Given the description of an element on the screen output the (x, y) to click on. 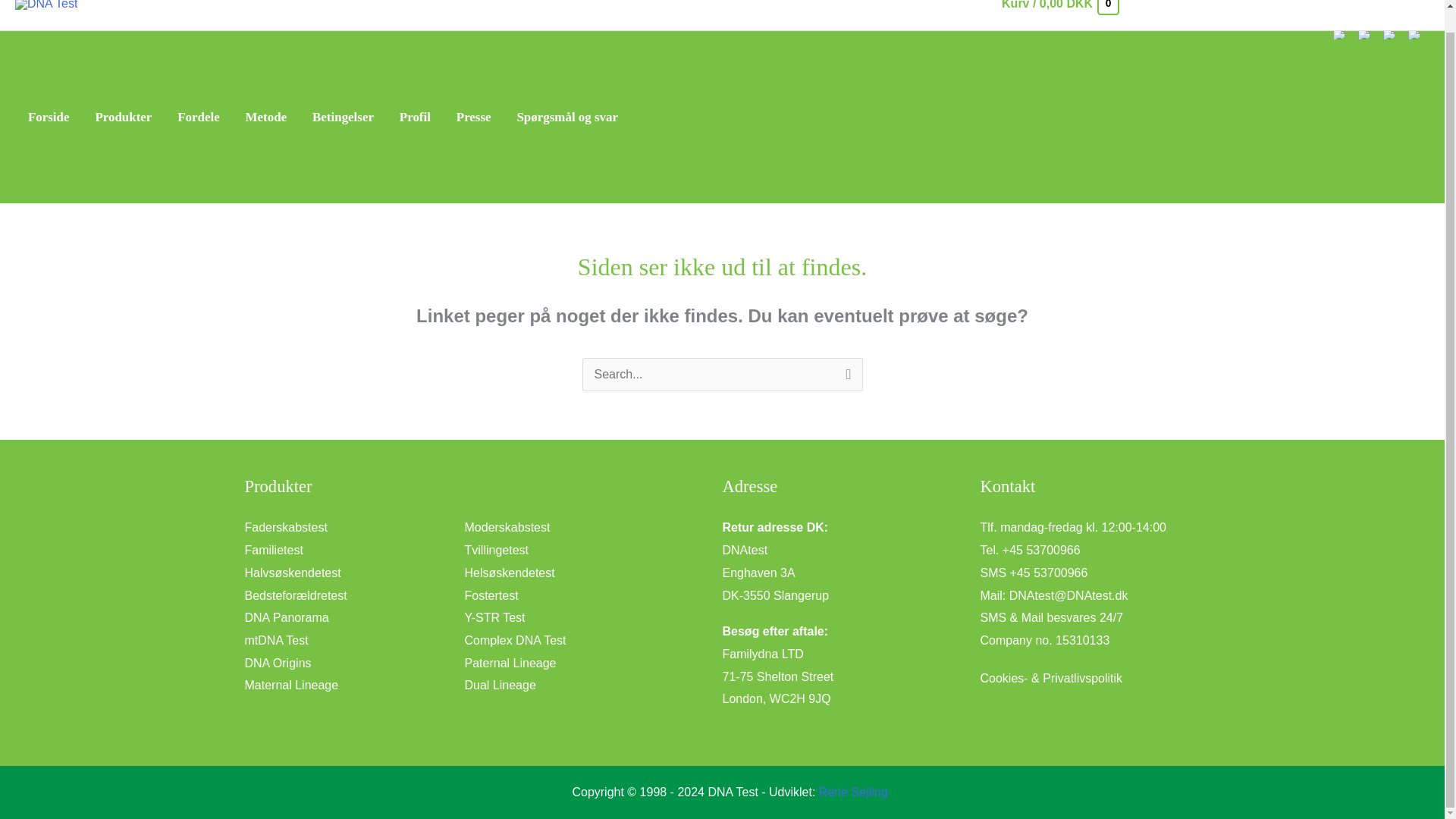
Profil (415, 117)
Betingelser (343, 117)
Faderskabstest (285, 526)
Forside (47, 117)
Familietest (273, 549)
Presse (473, 117)
Metode (265, 117)
Danish (1339, 34)
Norwegian (1389, 34)
Moderskabstest (507, 526)
